Given the description of an element on the screen output the (x, y) to click on. 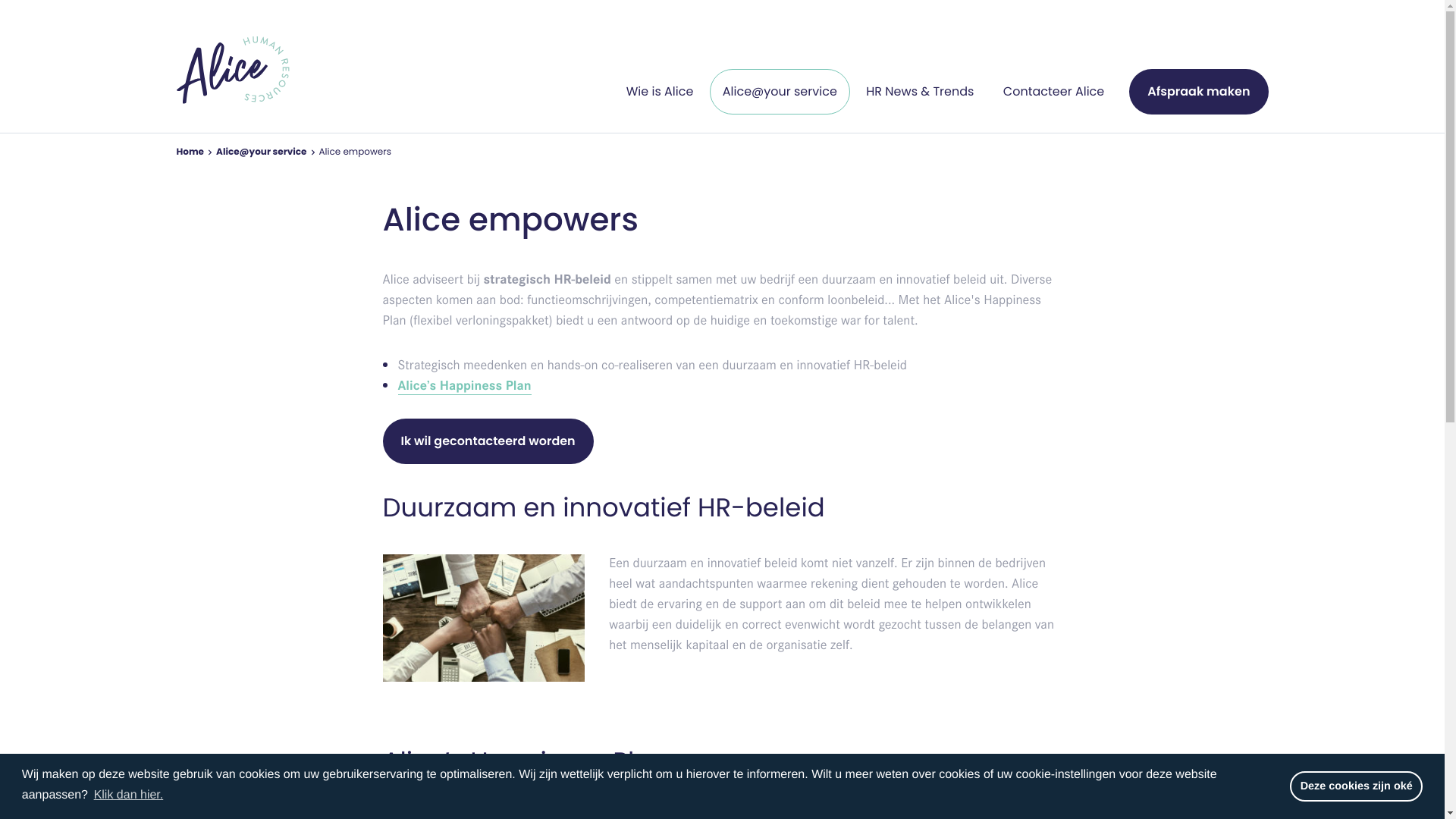
Contacteer Alice Element type: text (1053, 91)
Alice@your service Element type: text (261, 152)
Klik dan hier. Element type: text (128, 795)
Afspraak maken Element type: text (1198, 91)
Ik wil gecontacteerd worden Element type: text (487, 441)
Wie is Alice Element type: text (659, 91)
Alice@your service Element type: text (779, 91)
Home Element type: text (189, 152)
HR News & Trends Element type: text (919, 91)
nl Element type: hover (231, 63)
